Given the description of an element on the screen output the (x, y) to click on. 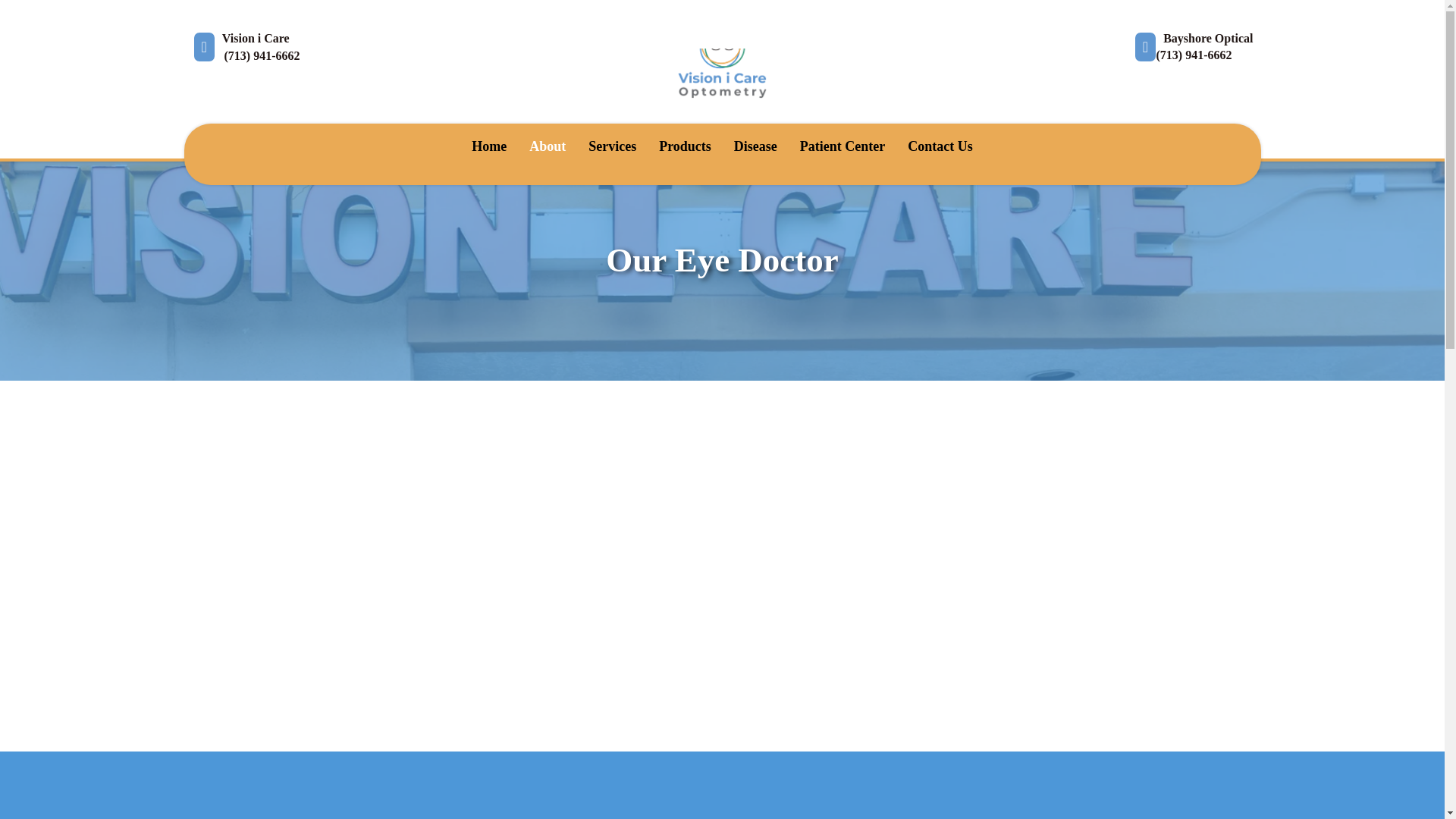
Vision i Care (240, 46)
Services (611, 146)
Home (489, 146)
Bayshore Optical (1192, 46)
About (547, 146)
